Given the description of an element on the screen output the (x, y) to click on. 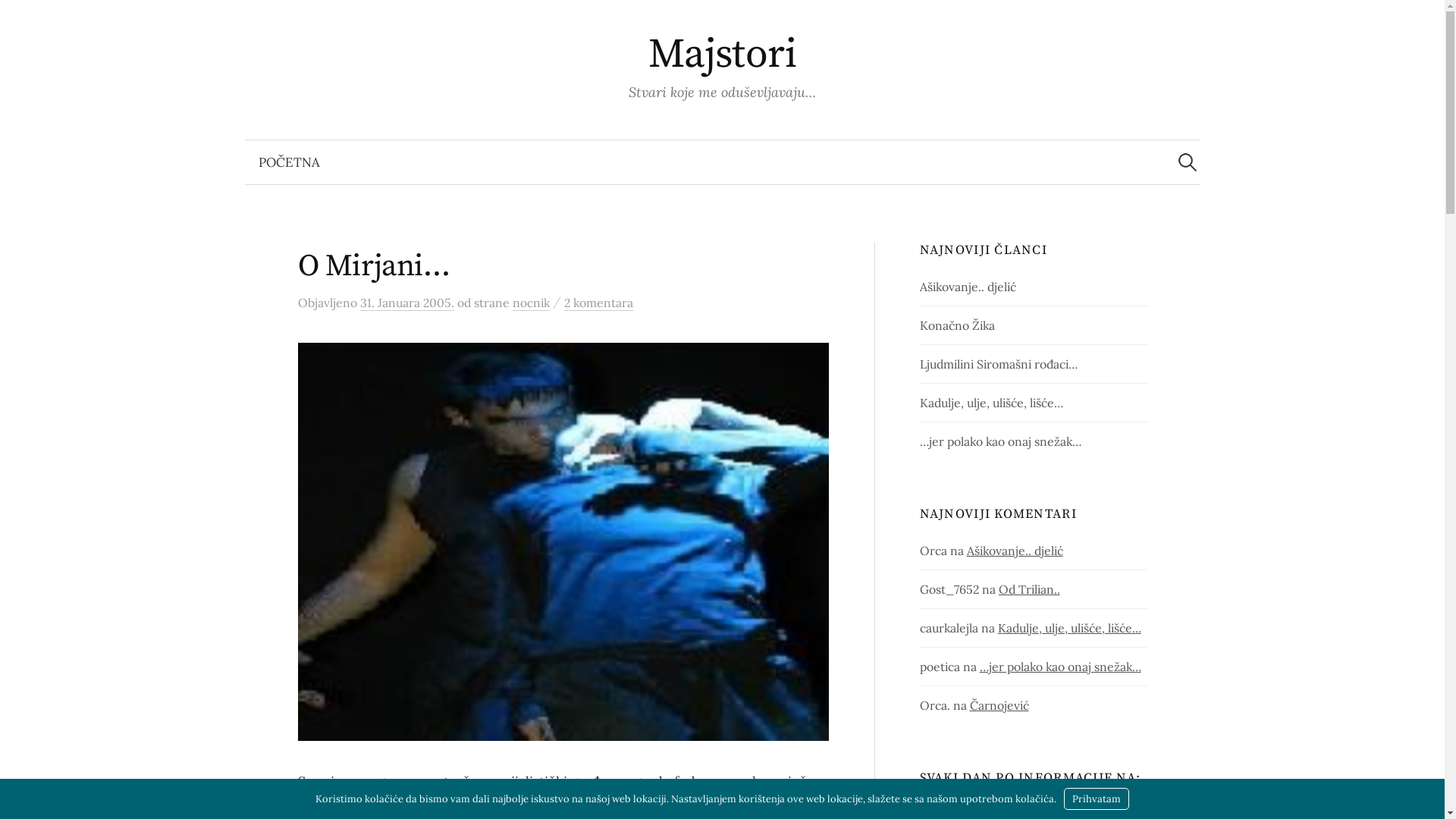
Pretraga Element type: text (18, 18)
Prihvatam Element type: text (1096, 798)
Od Trilian.. Element type: text (1029, 588)
Majstori Element type: text (722, 54)
31. Januara 2005. Element type: text (406, 302)
nocnik Element type: text (530, 302)
